Given the description of an element on the screen output the (x, y) to click on. 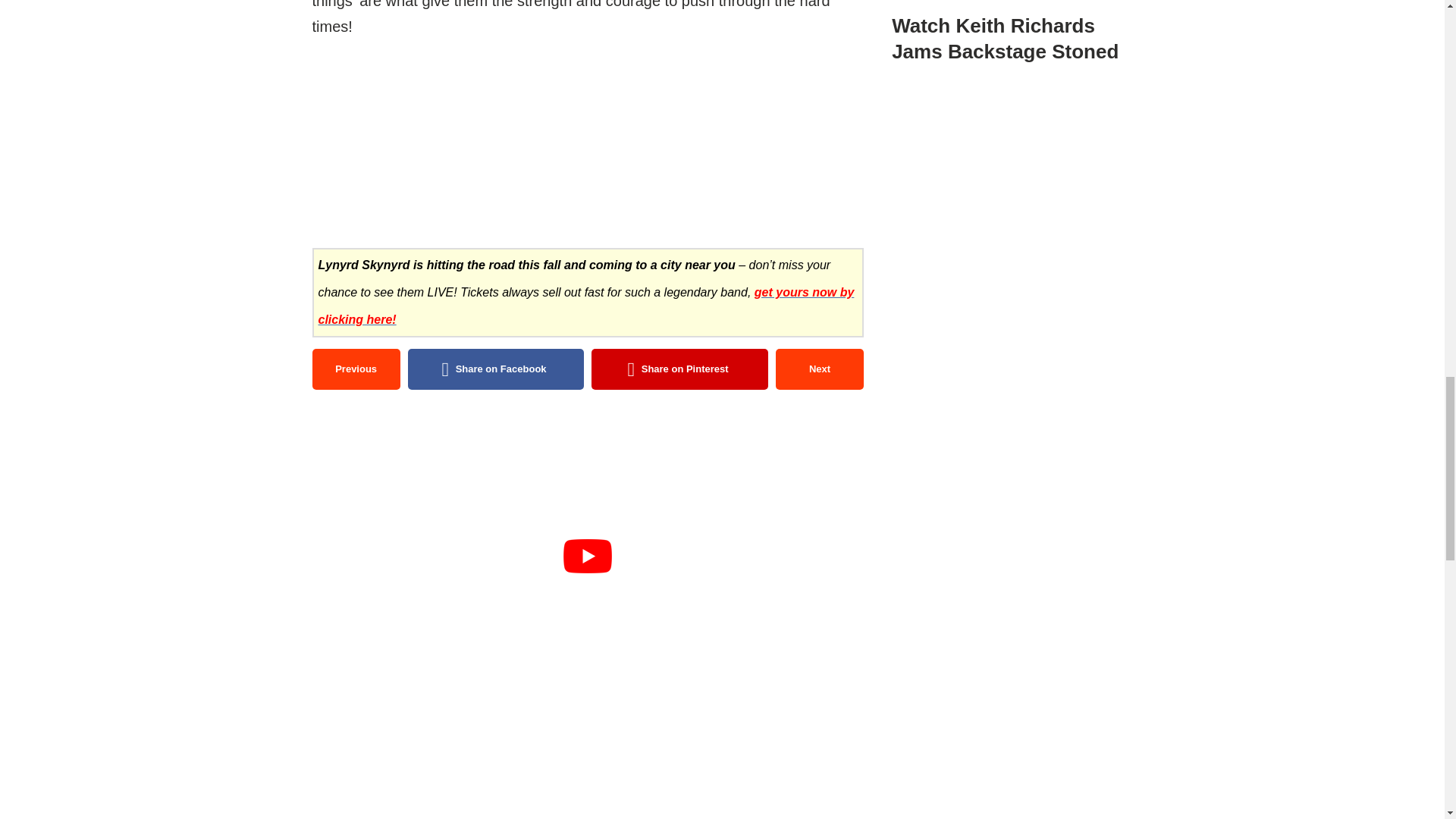
Share on Pinterest (679, 368)
